Given the description of an element on the screen output the (x, y) to click on. 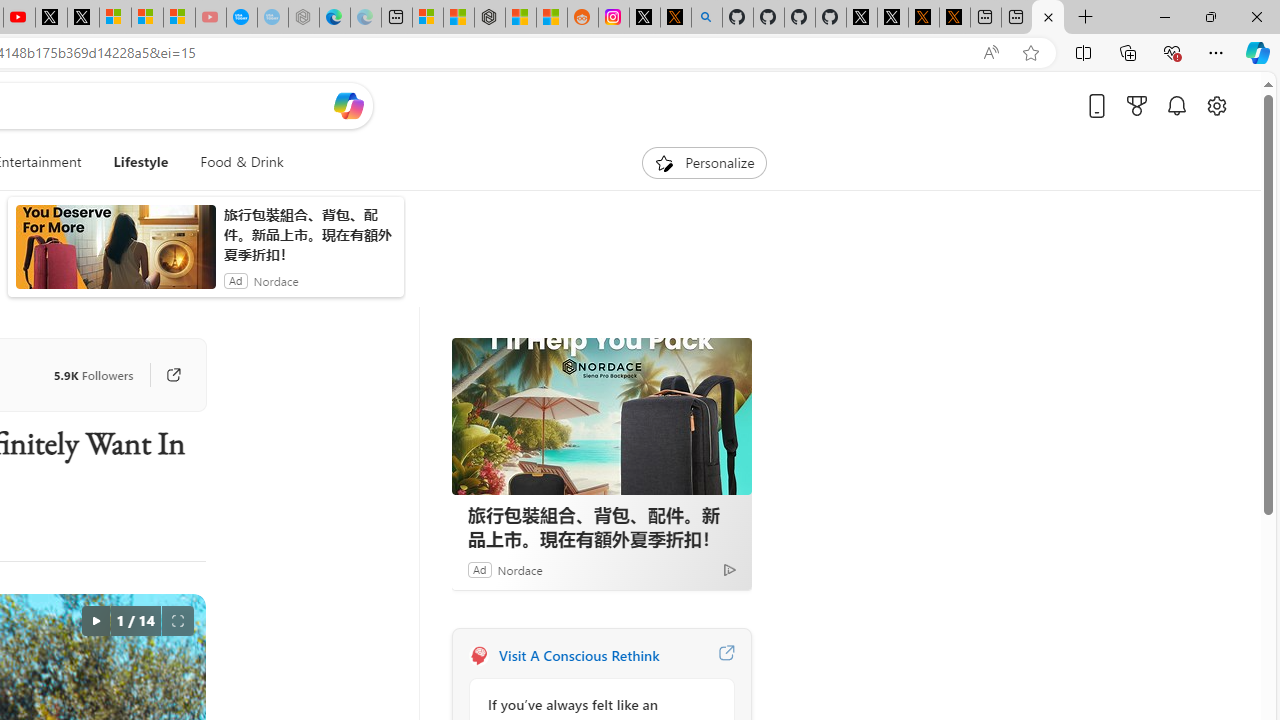
Mostly sunny (504, 368)
More options (736, 631)
Open Copilot (347, 138)
tab-2 (511, 579)
Class: icon-img (736, 632)
Microsoft account | Microsoft Account Privacy Settings (396, 17)
github - Search (381, 88)
